Given the description of an element on the screen output the (x, y) to click on. 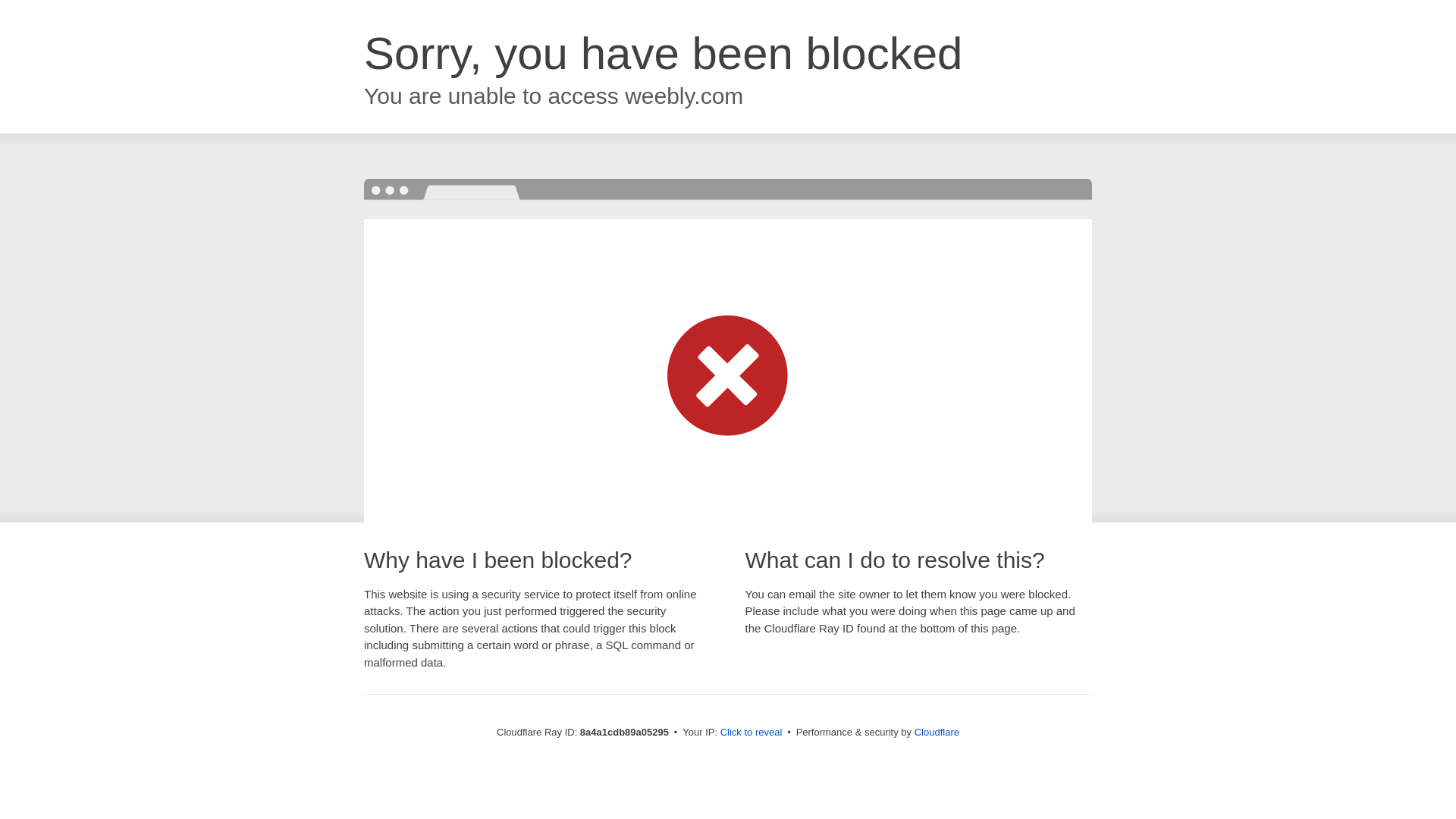
Click to reveal (751, 732)
Cloudflare (936, 731)
